Given the description of an element on the screen output the (x, y) to click on. 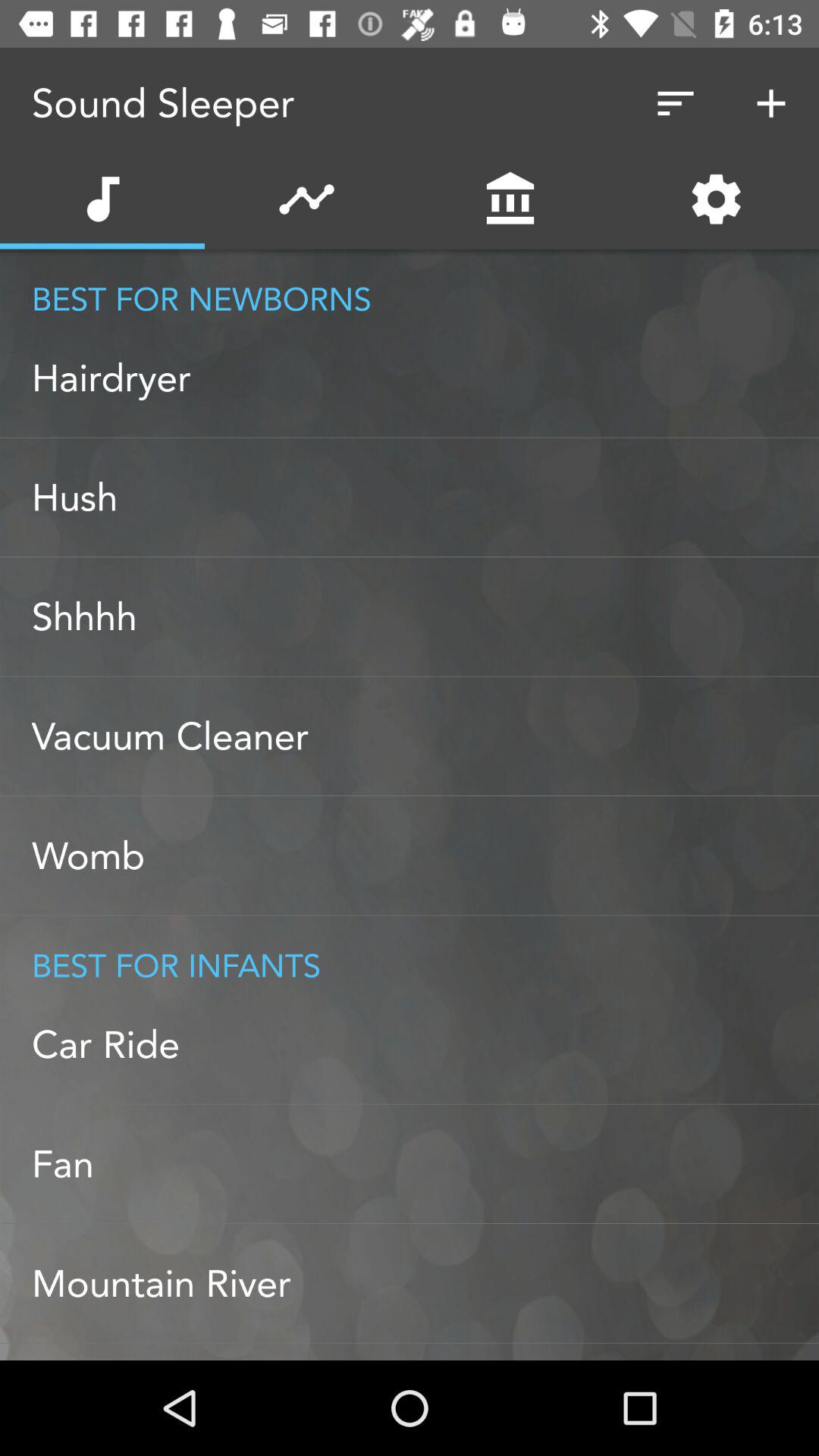
jump until fan item (425, 1163)
